Given the description of an element on the screen output the (x, y) to click on. 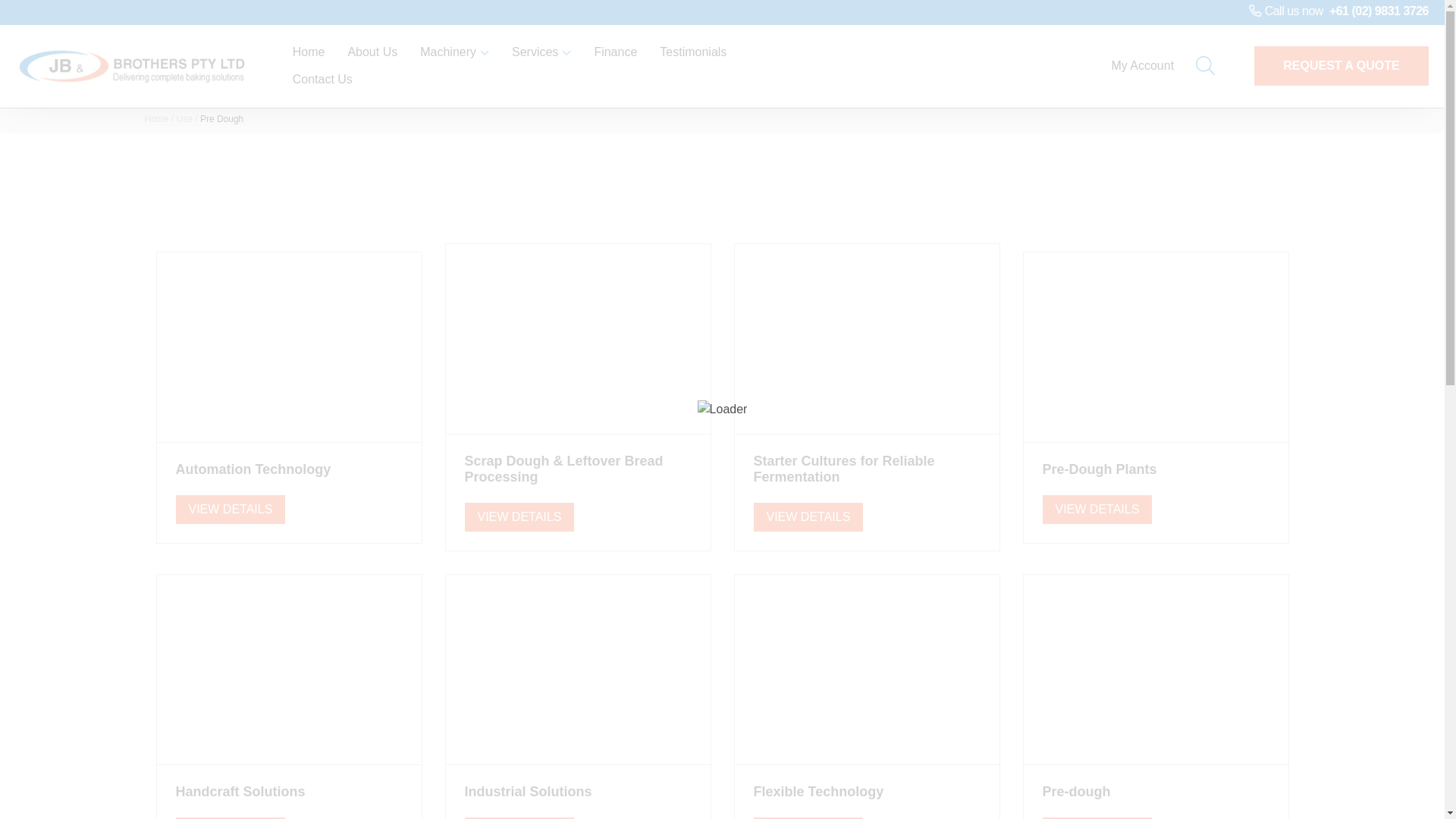
VIEW DETAILS Element type: text (230, 508)
Call us now+61 (02) 9831 3726 Element type: text (1336, 11)
Contact Us Element type: text (322, 79)
VIEW DETAILS Element type: text (808, 516)
Home Element type: text (308, 51)
VIEW DETAILS Element type: text (519, 516)
REQUEST A QUOTE Element type: text (1341, 65)
Testimonials Element type: text (692, 51)
Machinery Element type: text (454, 51)
Finance Element type: text (615, 51)
VIEW DETAILS Element type: text (1096, 508)
Use Element type: text (184, 118)
Home Element type: text (156, 118)
About Us Element type: text (371, 51)
Services Element type: text (541, 51)
My Account Element type: text (1147, 65)
